Given the description of an element on the screen output the (x, y) to click on. 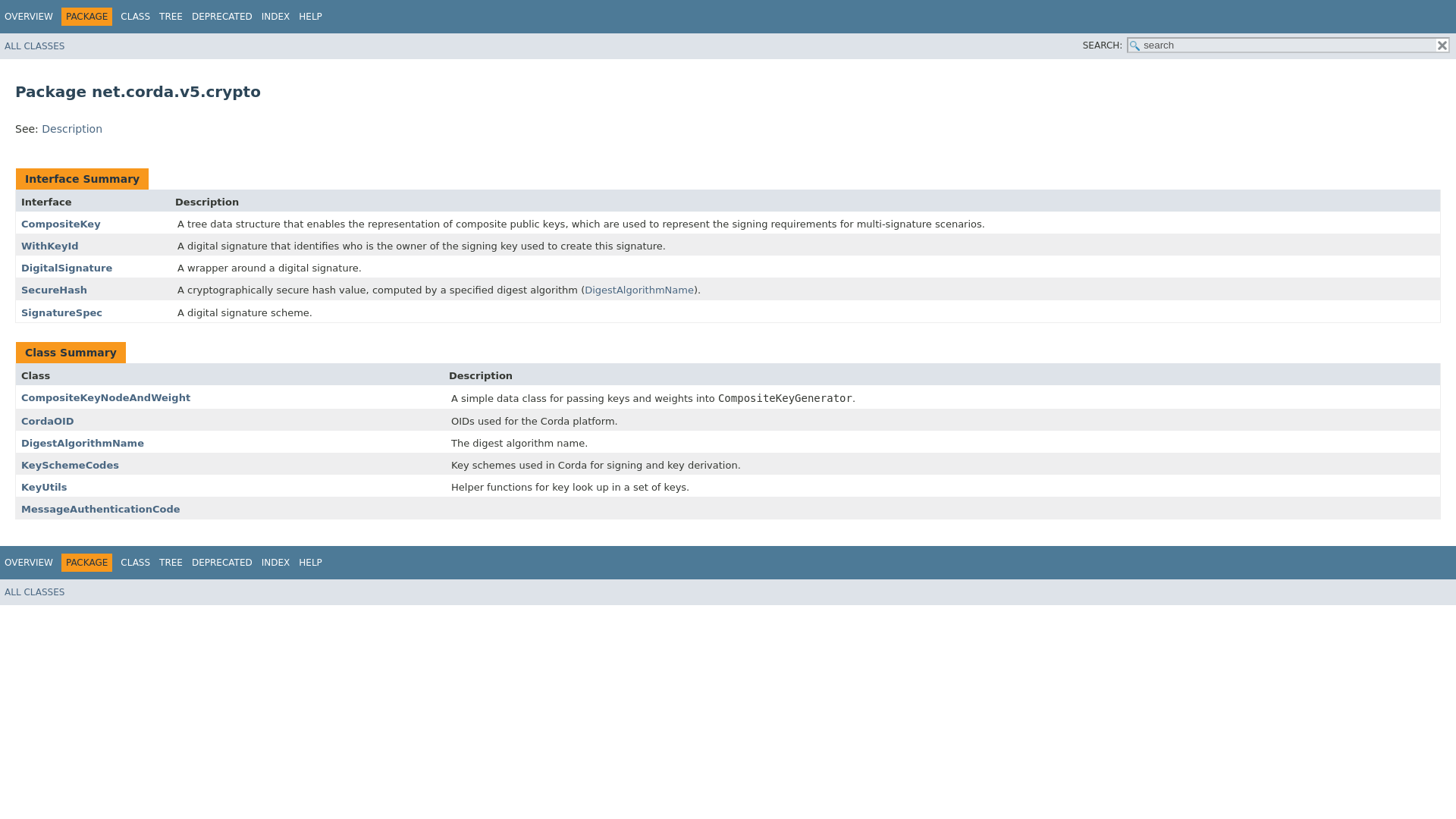
Package (727, 91)
Description (71, 128)
Navigation (163, 562)
ALL CLASSES (34, 45)
INDEX (275, 562)
DEPRECATED (221, 16)
ALL CLASSES (34, 592)
MessageAuthenticationCode (100, 509)
DigestAlgorithmName (82, 442)
search (1288, 44)
